Given the description of an element on the screen output the (x, y) to click on. 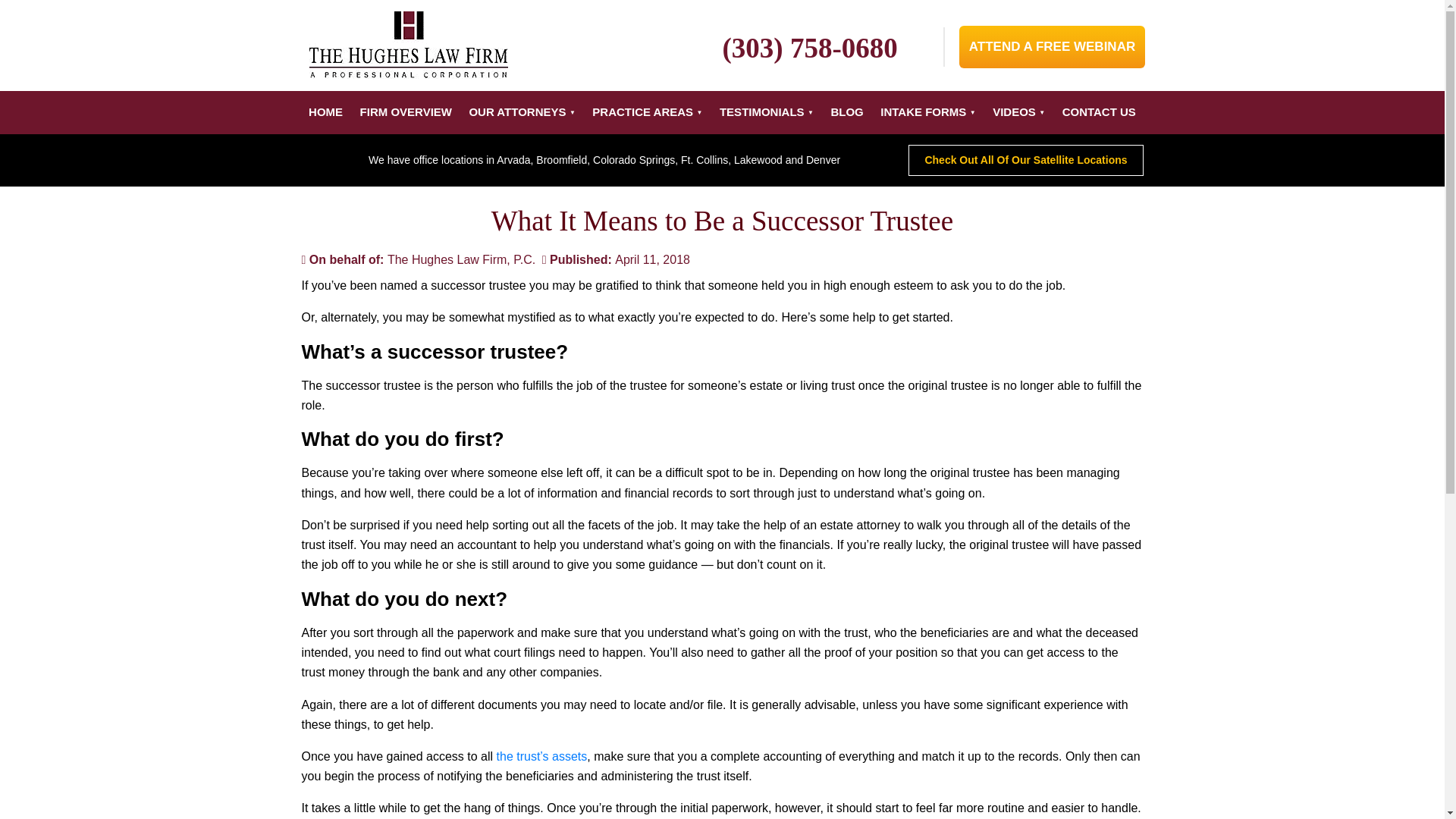
ATTEND A FREE WEBINAR (1051, 46)
CONTACT US (1098, 112)
BLOG (846, 112)
INTAKE FORMS (927, 112)
HOME (325, 112)
PRACTICE AREAS (647, 112)
VIDEOS (1018, 112)
OUR ATTORNEYS (520, 112)
FIRM OVERVIEW (405, 112)
TESTIMONIALS (767, 112)
